Given the description of an element on the screen output the (x, y) to click on. 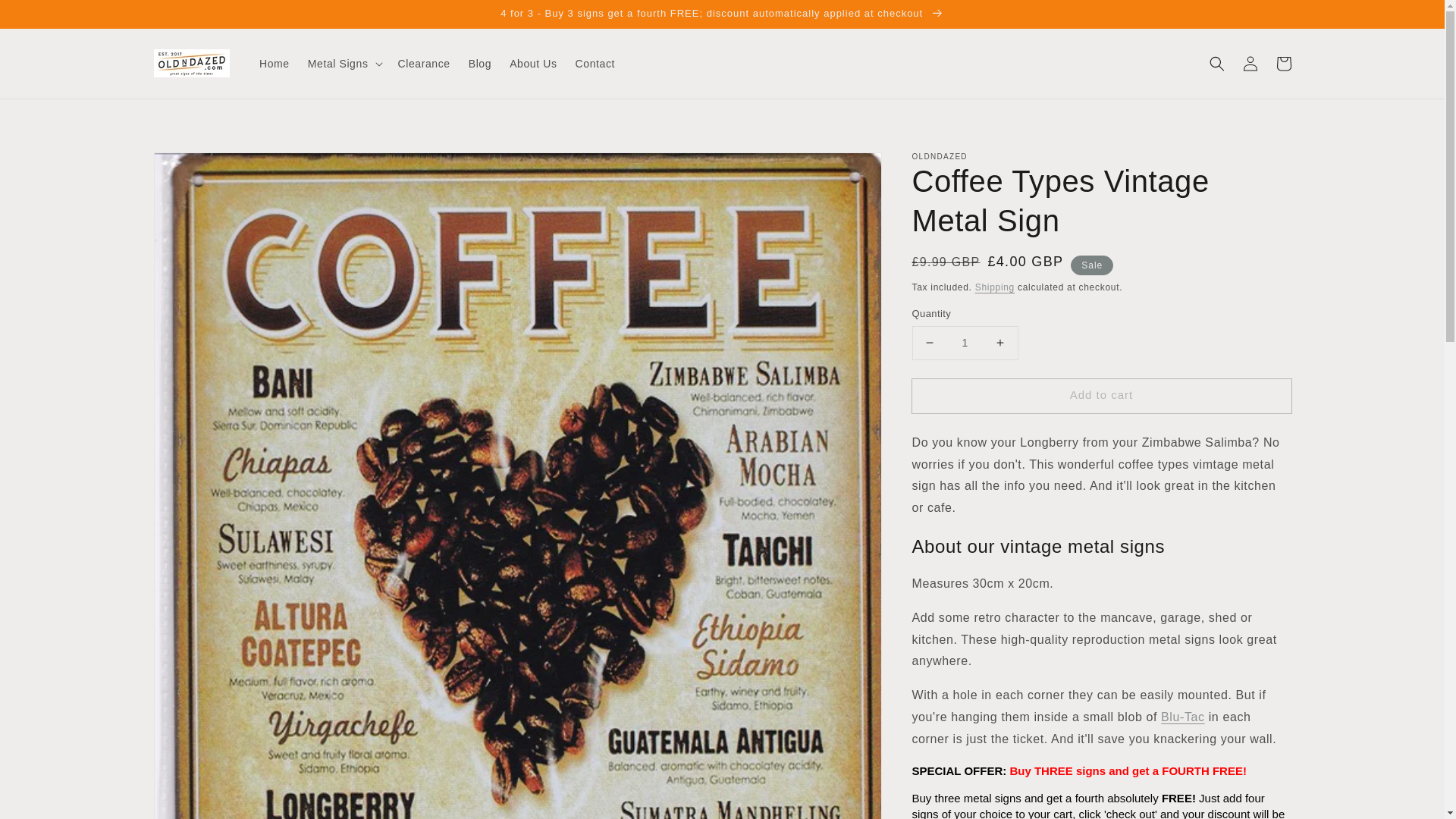
Cart (1283, 63)
Blog (480, 63)
Home (274, 63)
About Us (533, 63)
Clearance (423, 63)
Contact (595, 63)
Skip to product information (198, 168)
1 (964, 342)
Skip to content (45, 16)
